Given the description of an element on the screen output the (x, y) to click on. 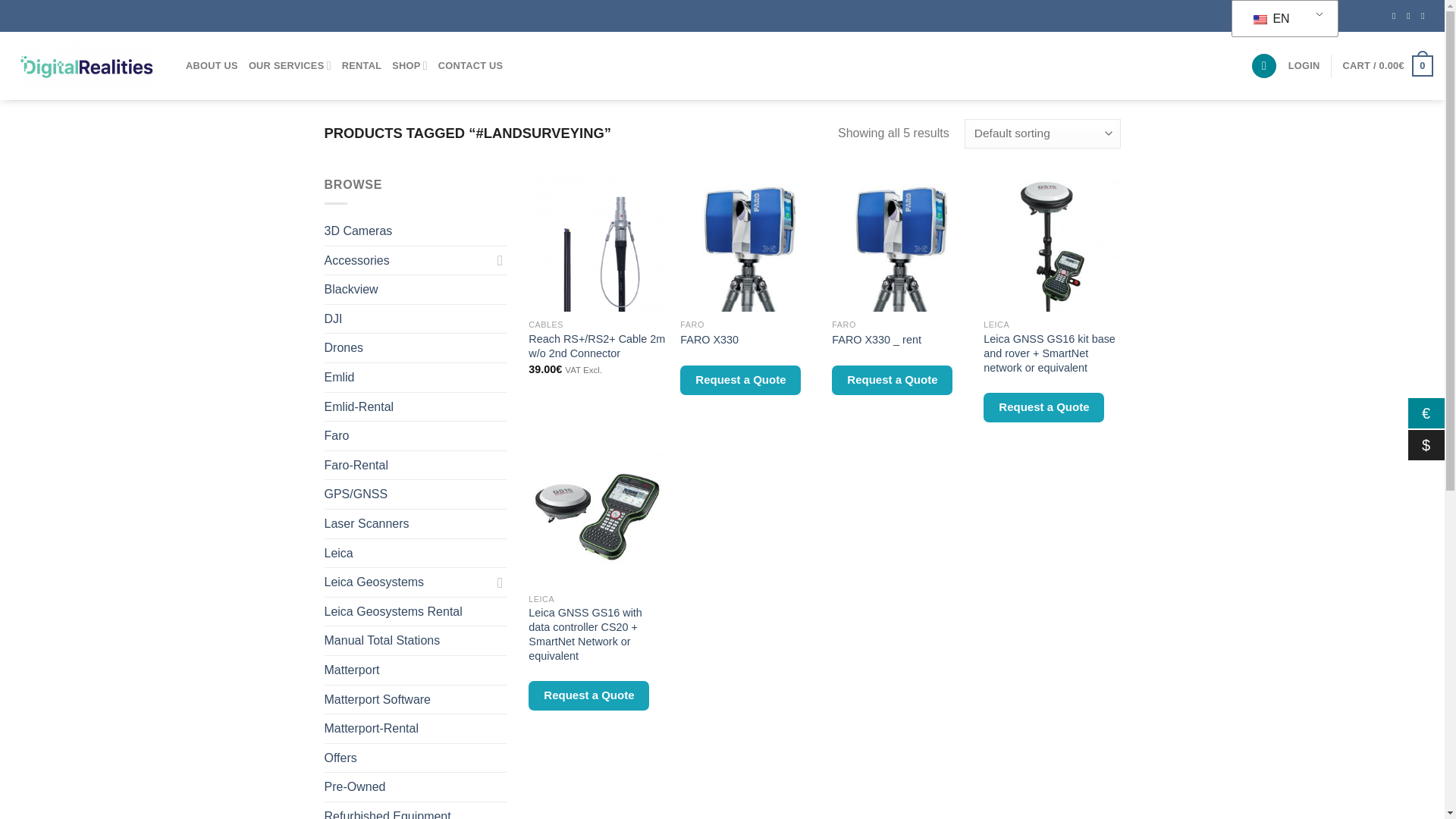
Accessories (407, 260)
RENTAL (361, 65)
Send us an email (1425, 15)
EN (1281, 19)
ABOUT US (212, 65)
Follow on Instagram (1410, 15)
CONTACT US (470, 65)
Follow on Facebook (1395, 15)
English (1281, 19)
3D Cameras (415, 231)
OUR SERVICES (289, 65)
Digital Realities (87, 65)
English (1259, 19)
LOGIN (1304, 65)
SHOP (409, 65)
